Given the description of an element on the screen output the (x, y) to click on. 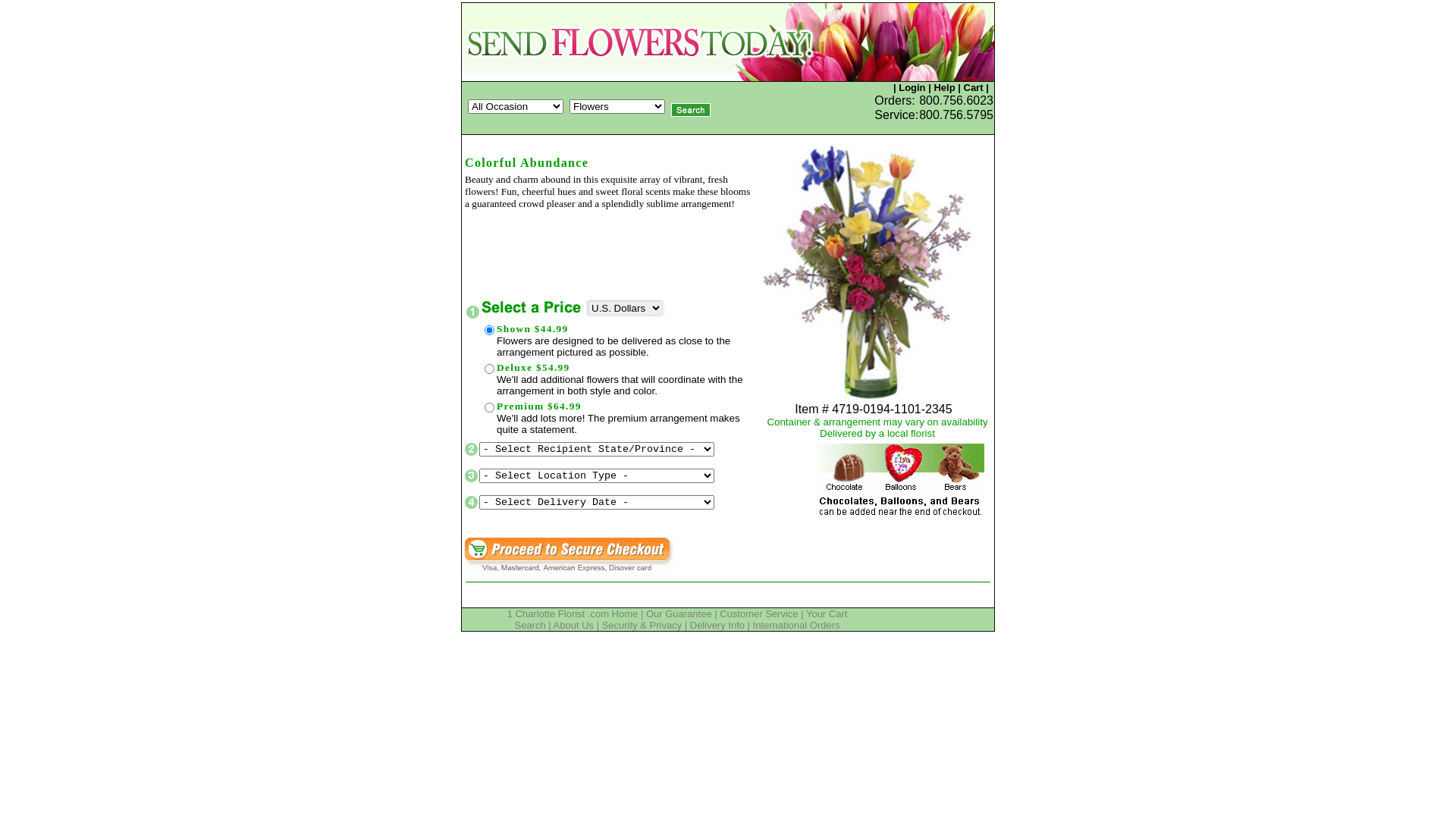
Customer Service Element type: text (758, 613)
1 Charlotte Florist .com Home Element type: text (572, 613)
Your Cart Element type: text (826, 613)
Search Element type: text (529, 624)
Our Guarantee Element type: text (679, 613)
About Us Element type: text (573, 624)
Help Element type: text (943, 87)
Security & Privacy Element type: text (641, 624)
International Orders Element type: text (796, 624)
Cart Element type: text (972, 87)
Delivery Info Element type: text (717, 624)
Login Element type: text (911, 87)
